Given the description of an element on the screen output the (x, y) to click on. 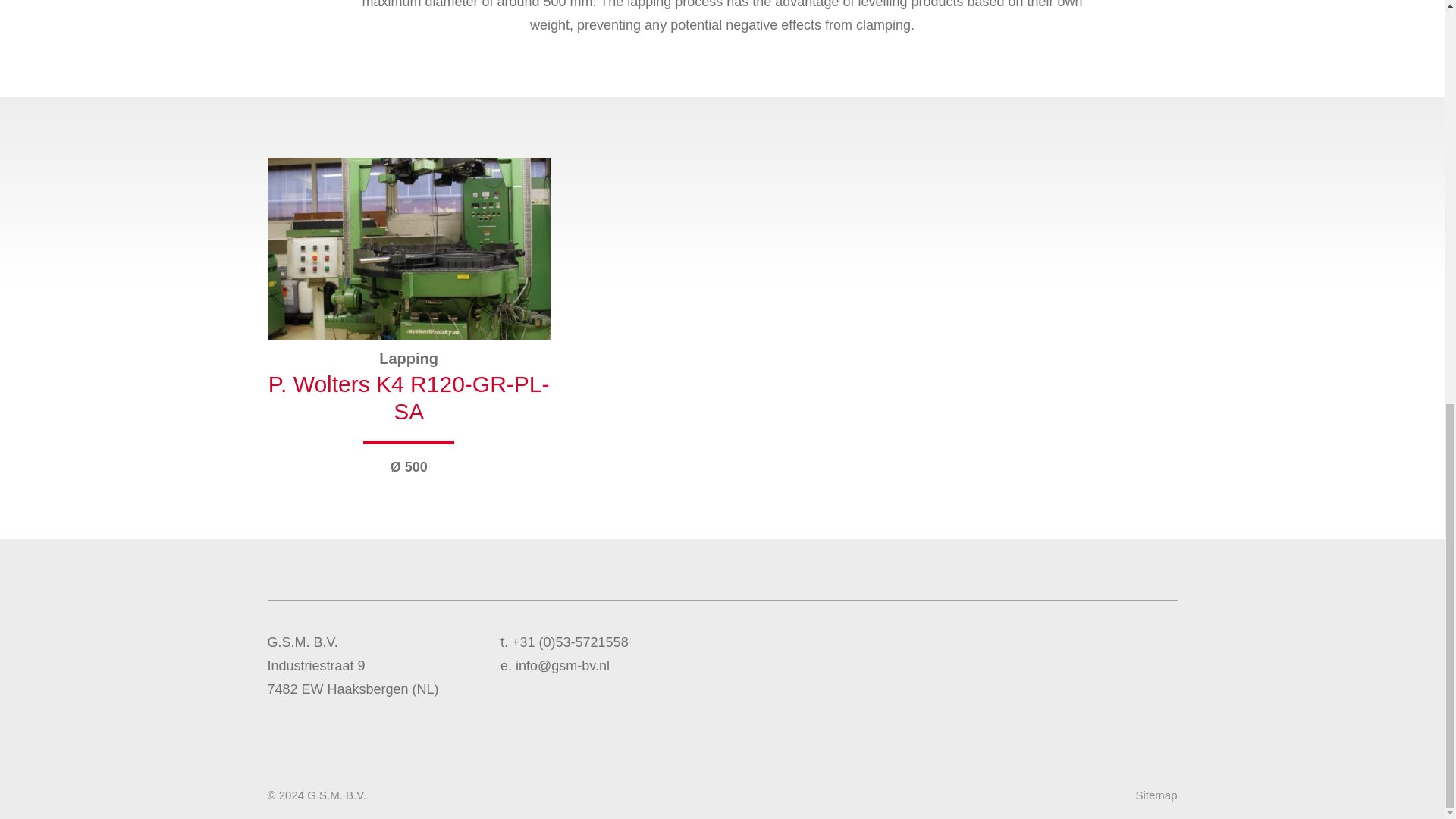
Sitemap (1155, 794)
